Given the description of an element on the screen output the (x, y) to click on. 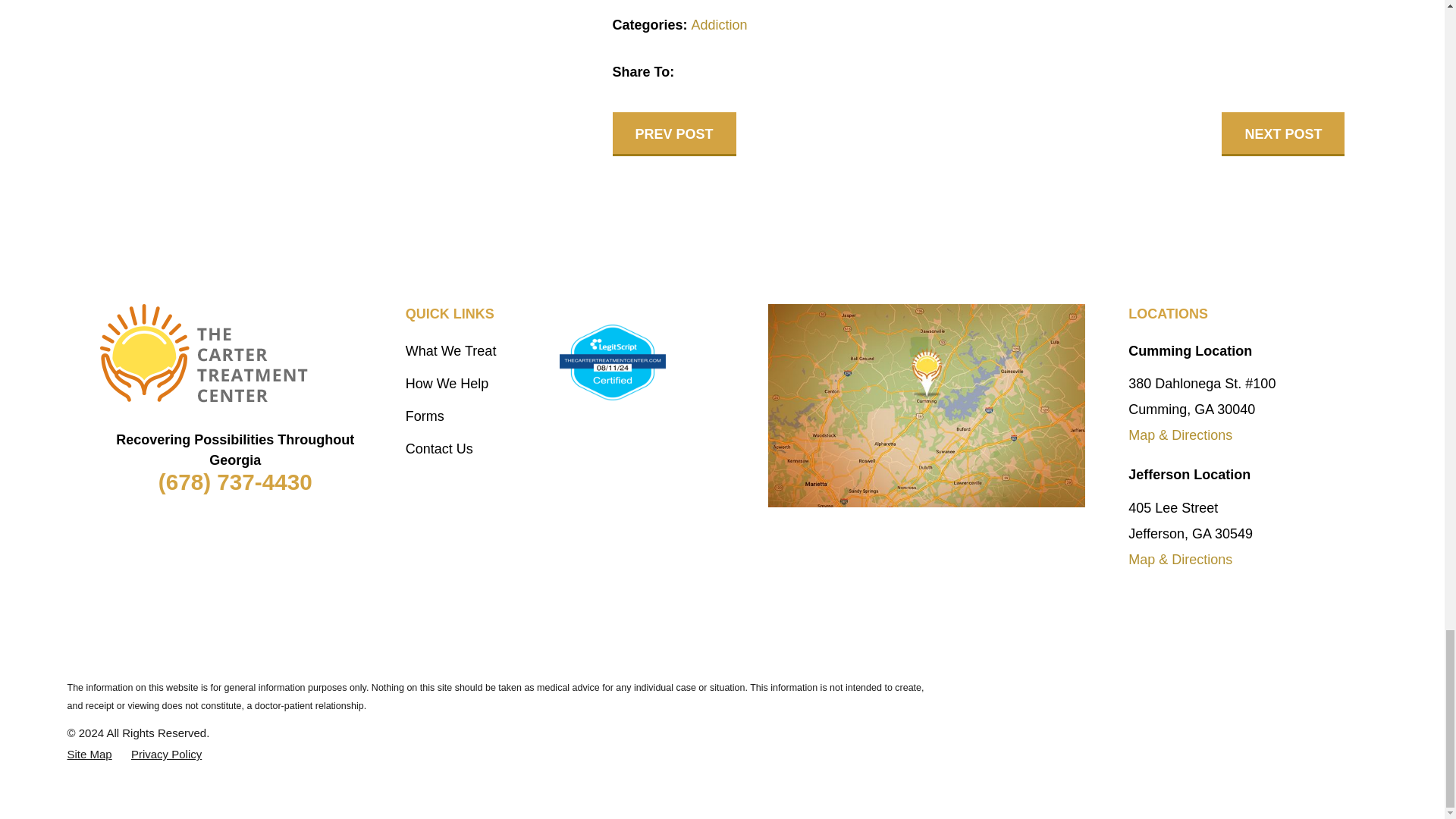
Home (235, 352)
The Carter Treatment Center (203, 352)
Verify LegitScript Approval (612, 362)
